Given the description of an element on the screen output the (x, y) to click on. 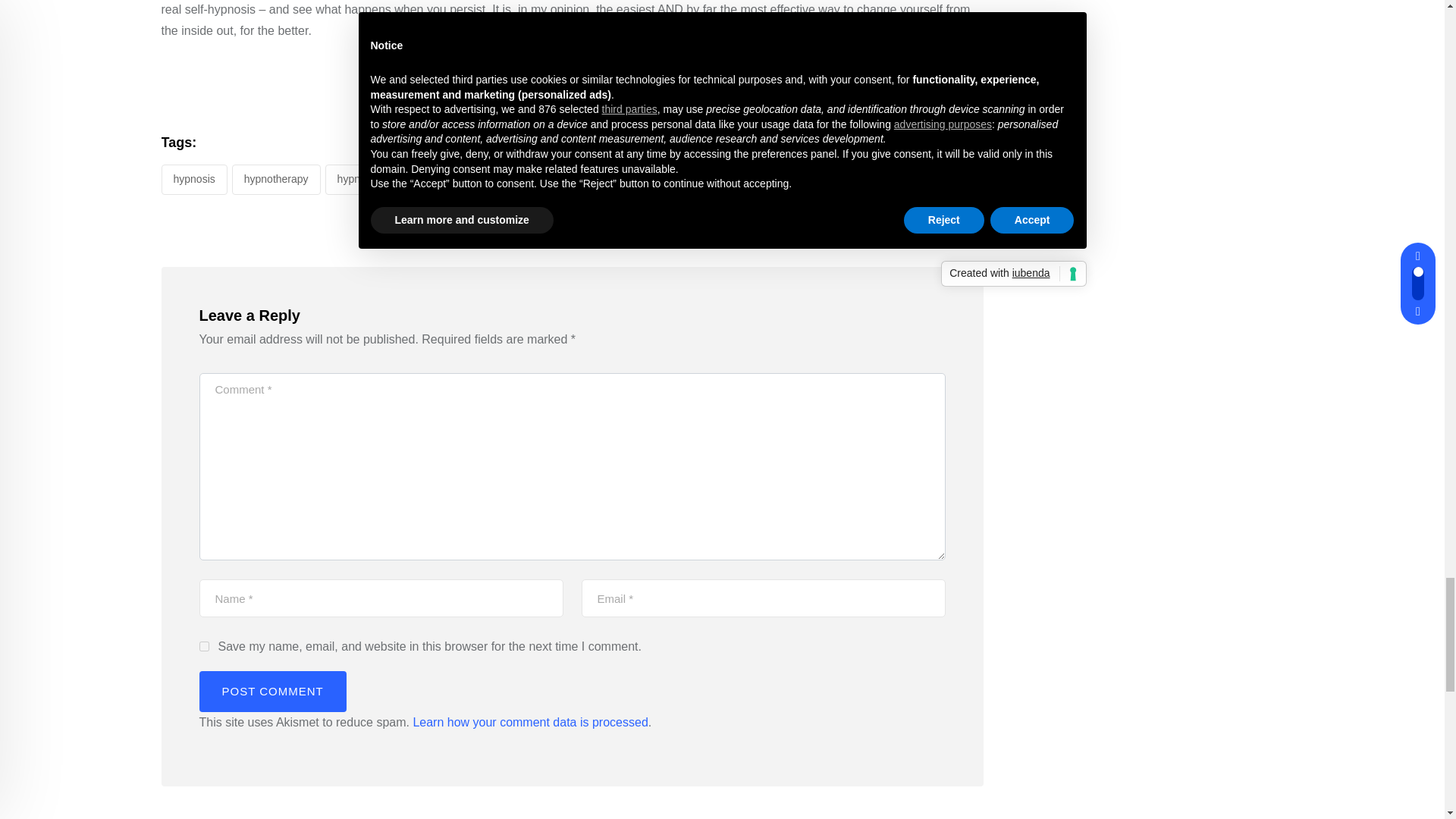
Post Comment (272, 690)
yes (203, 646)
